Given the description of an element on the screen output the (x, y) to click on. 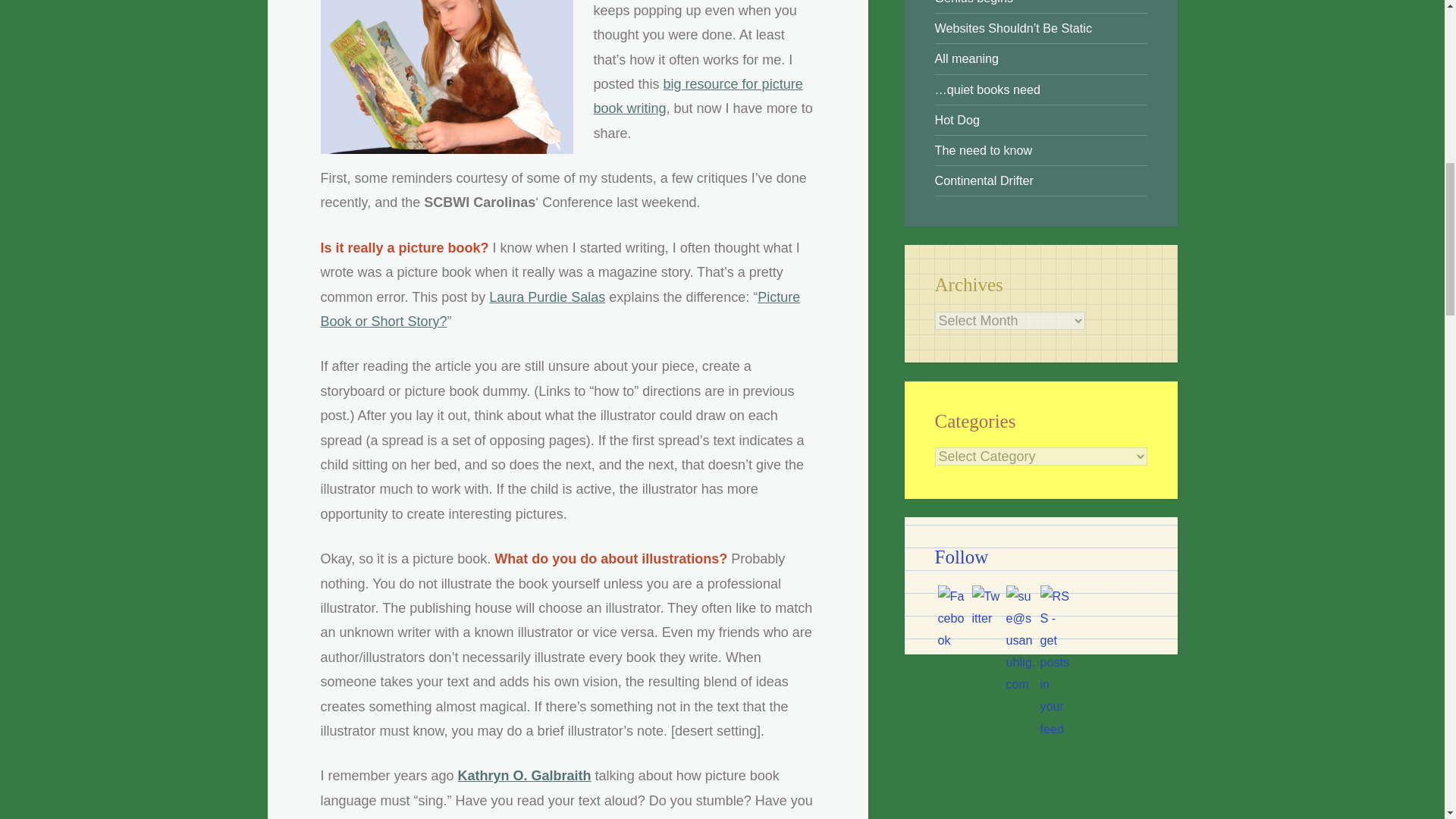
big resource for picture book writing (697, 96)
Picture Book or Short Story? (559, 309)
Kathryn O. Galbraith (524, 775)
Laura Purdie Salas (547, 296)
